Given the description of an element on the screen output the (x, y) to click on. 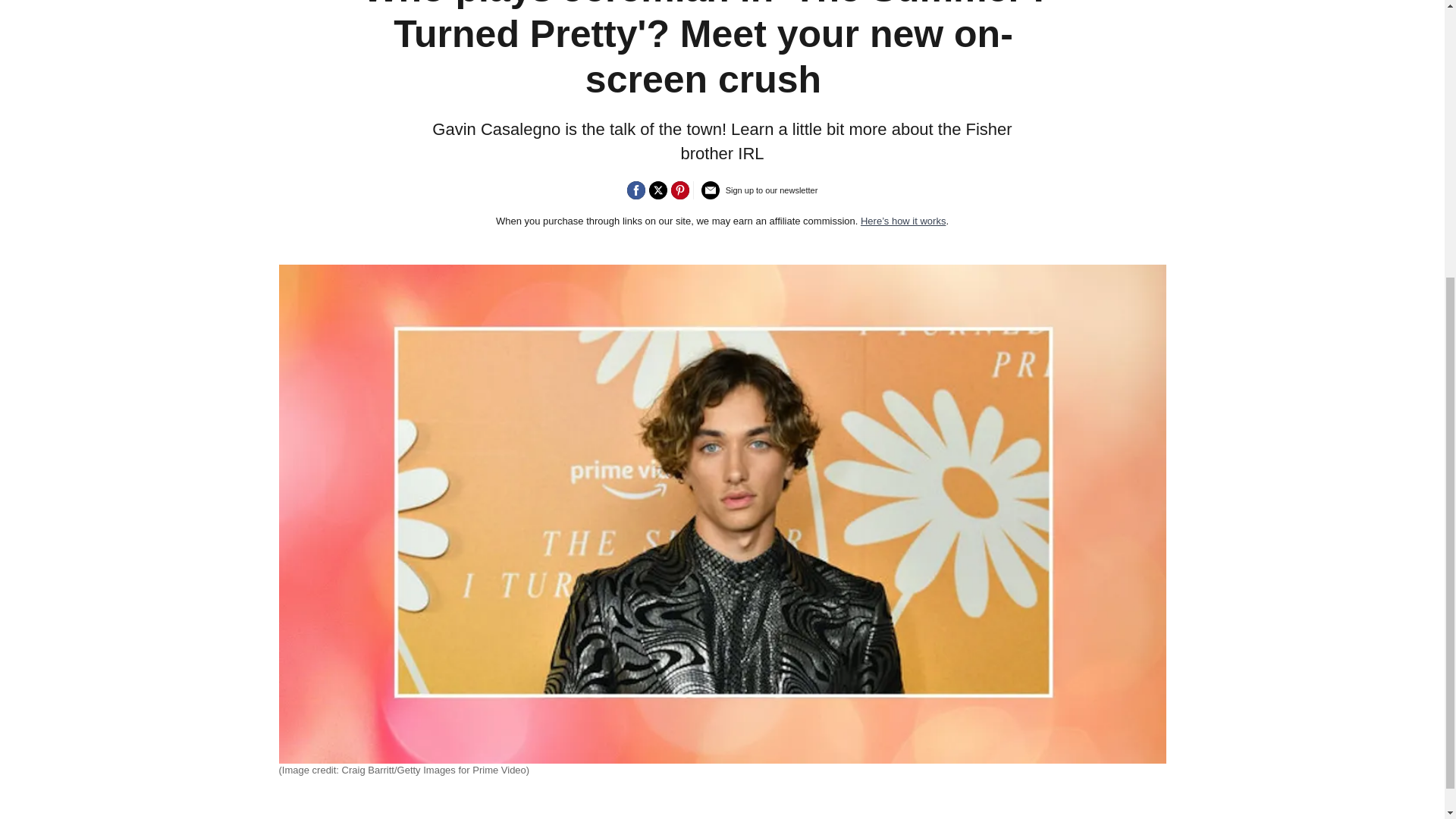
Sign up to our newsletter (759, 195)
